Given the description of an element on the screen output the (x, y) to click on. 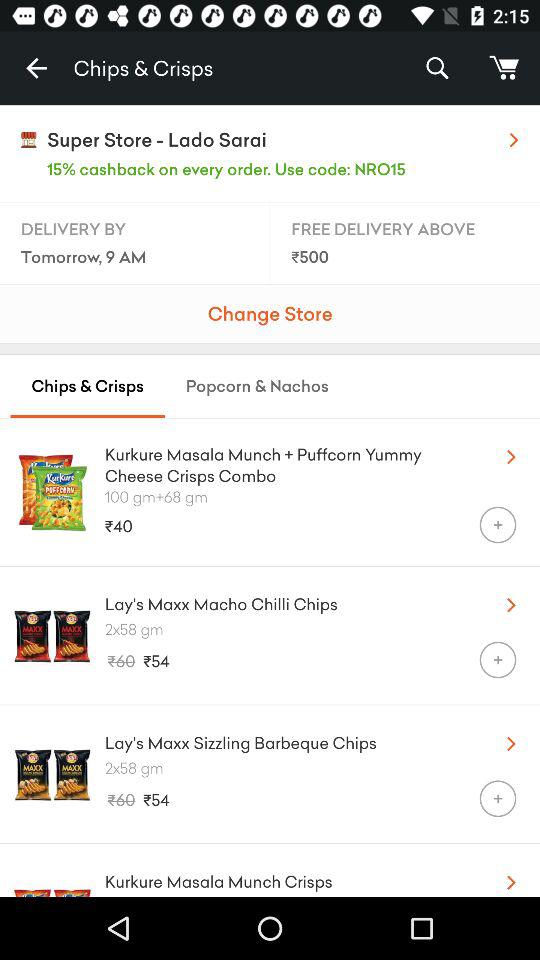
press the icon below 2x58 gm item (497, 798)
